Given the description of an element on the screen output the (x, y) to click on. 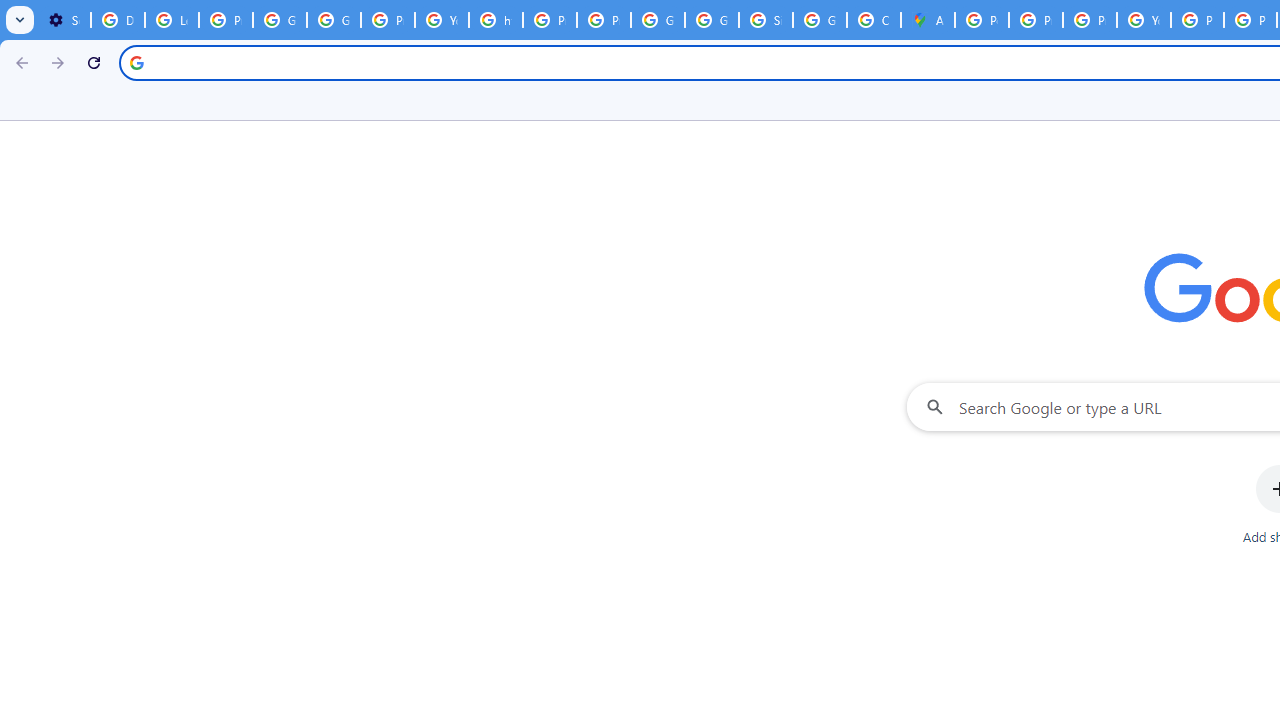
YouTube (1144, 20)
Create your Google Account (874, 20)
Google Account Help (280, 20)
Sign in - Google Accounts (765, 20)
